Given the description of an element on the screen output the (x, y) to click on. 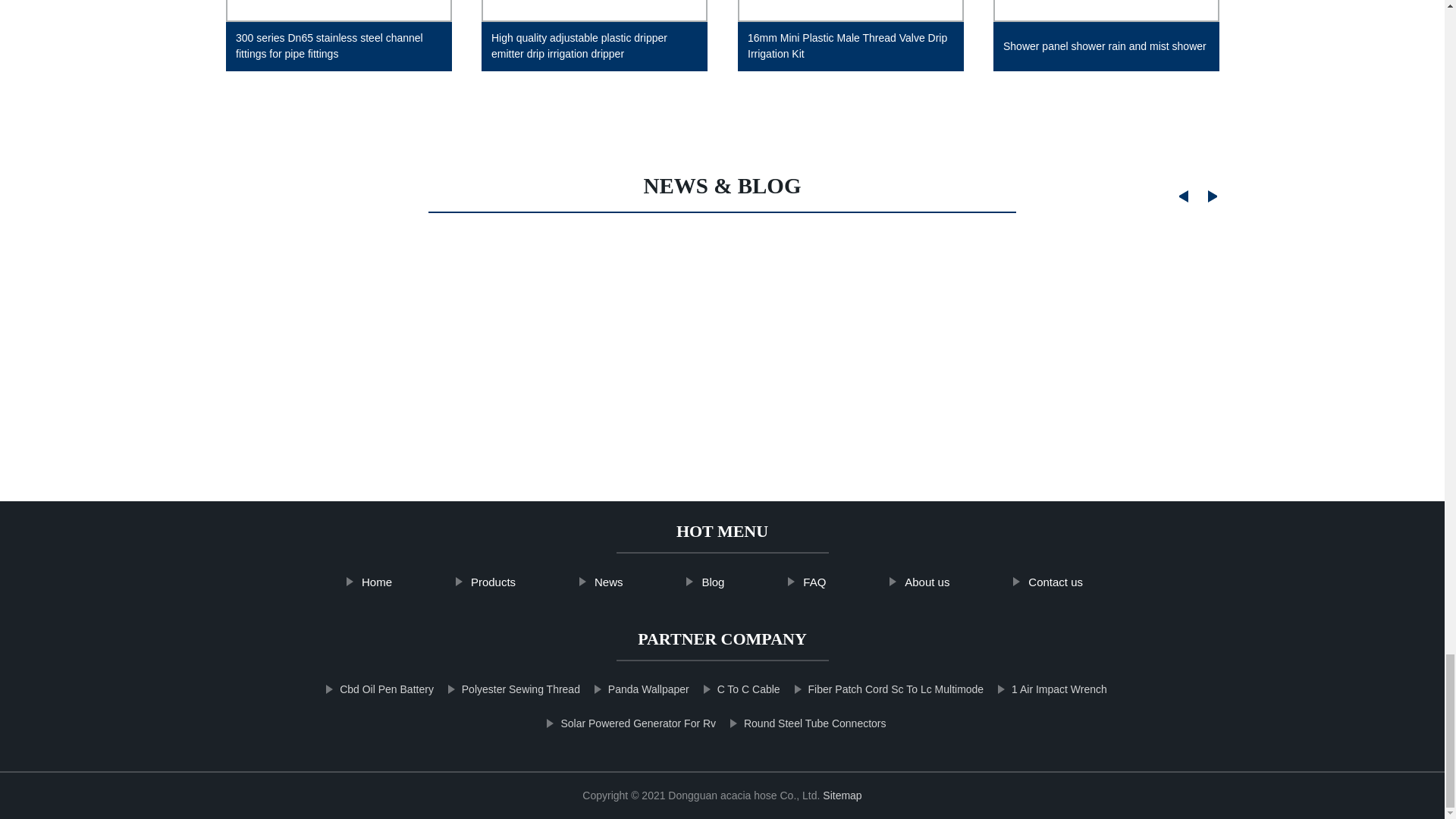
16mm Mini Plastic Male Thread Valve Drip Irrigation Kit (850, 43)
Shower panel shower rain and mist shower (1106, 43)
